Given the description of an element on the screen output the (x, y) to click on. 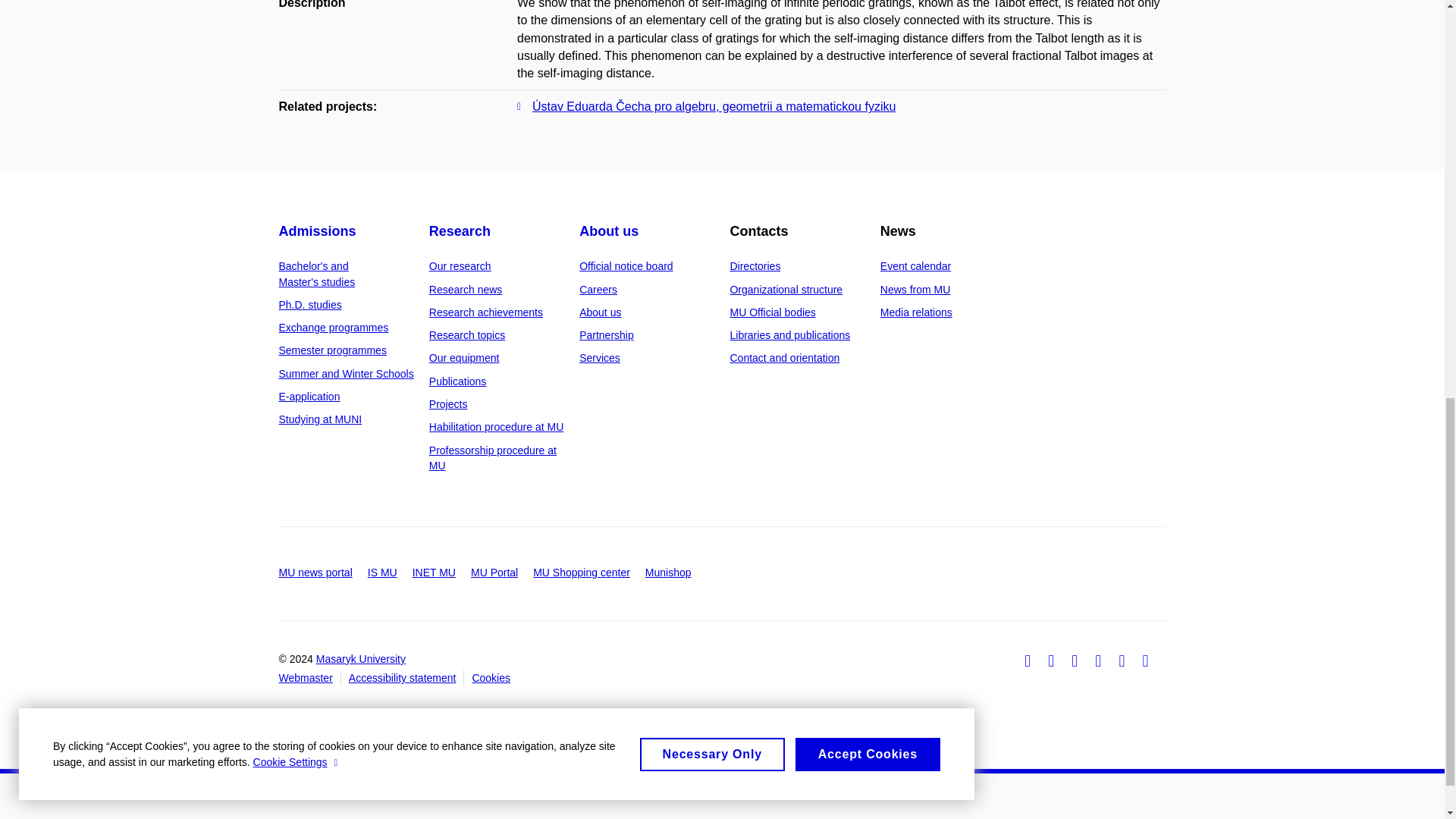
Our equipment (464, 357)
Studying at MUNI (320, 419)
Research achievements (486, 312)
Ph.D. studies (310, 304)
Projects (448, 404)
E-application (309, 396)
Research topics (467, 335)
Exchange programmes (333, 327)
Research news (465, 289)
Our research (460, 265)
Research (459, 231)
Publications (457, 381)
Semester programmes (333, 349)
Summer and Winter Schools (346, 373)
